Given the description of an element on the screen output the (x, y) to click on. 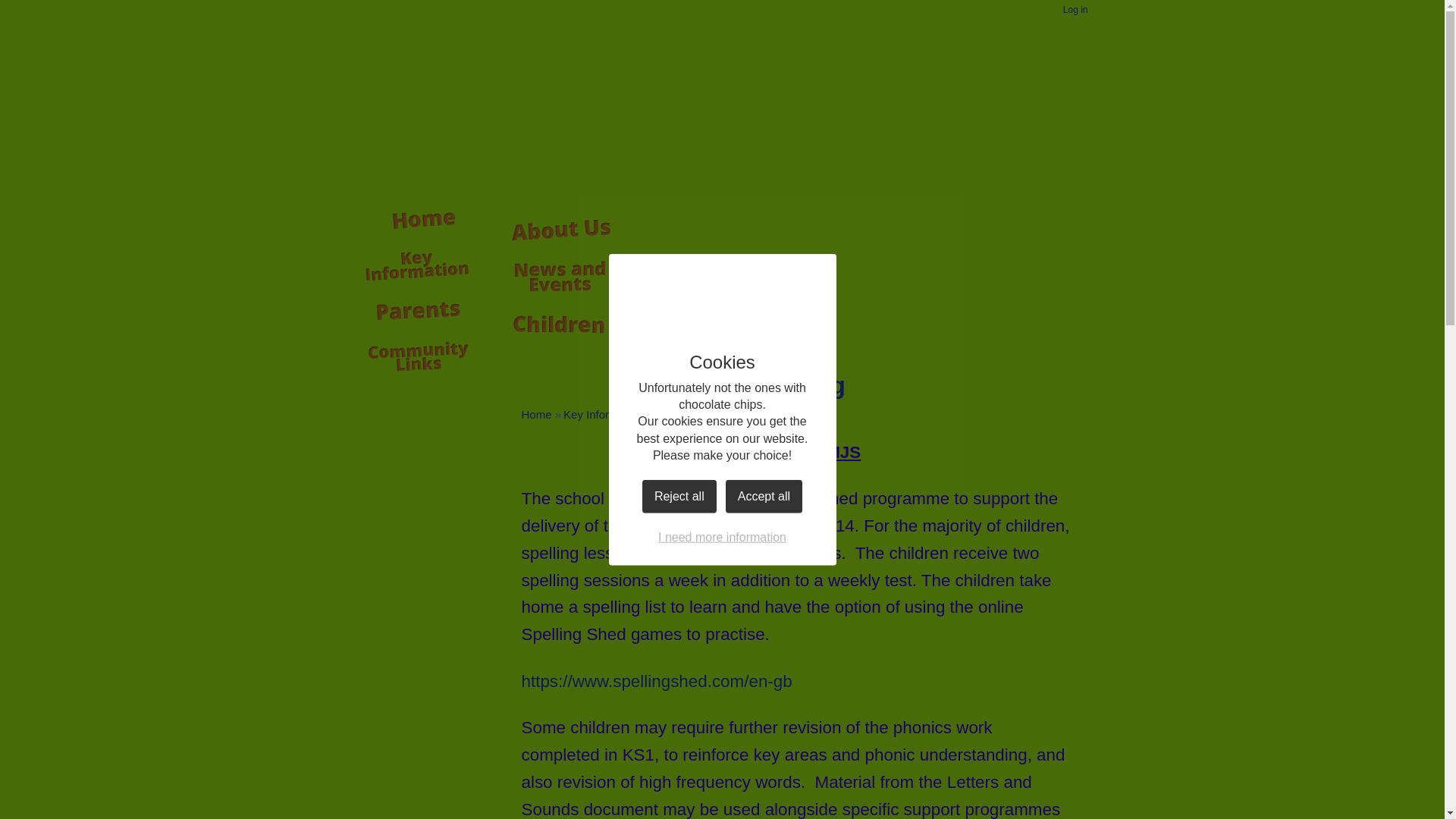
Home (536, 413)
Home Page (403, 53)
Key Information (419, 263)
Home Page (403, 53)
About Us (559, 230)
Log in (1075, 10)
Spelling (812, 413)
Key Information (603, 413)
English (762, 413)
Our Curriculum (693, 413)
